Given the description of an element on the screen output the (x, y) to click on. 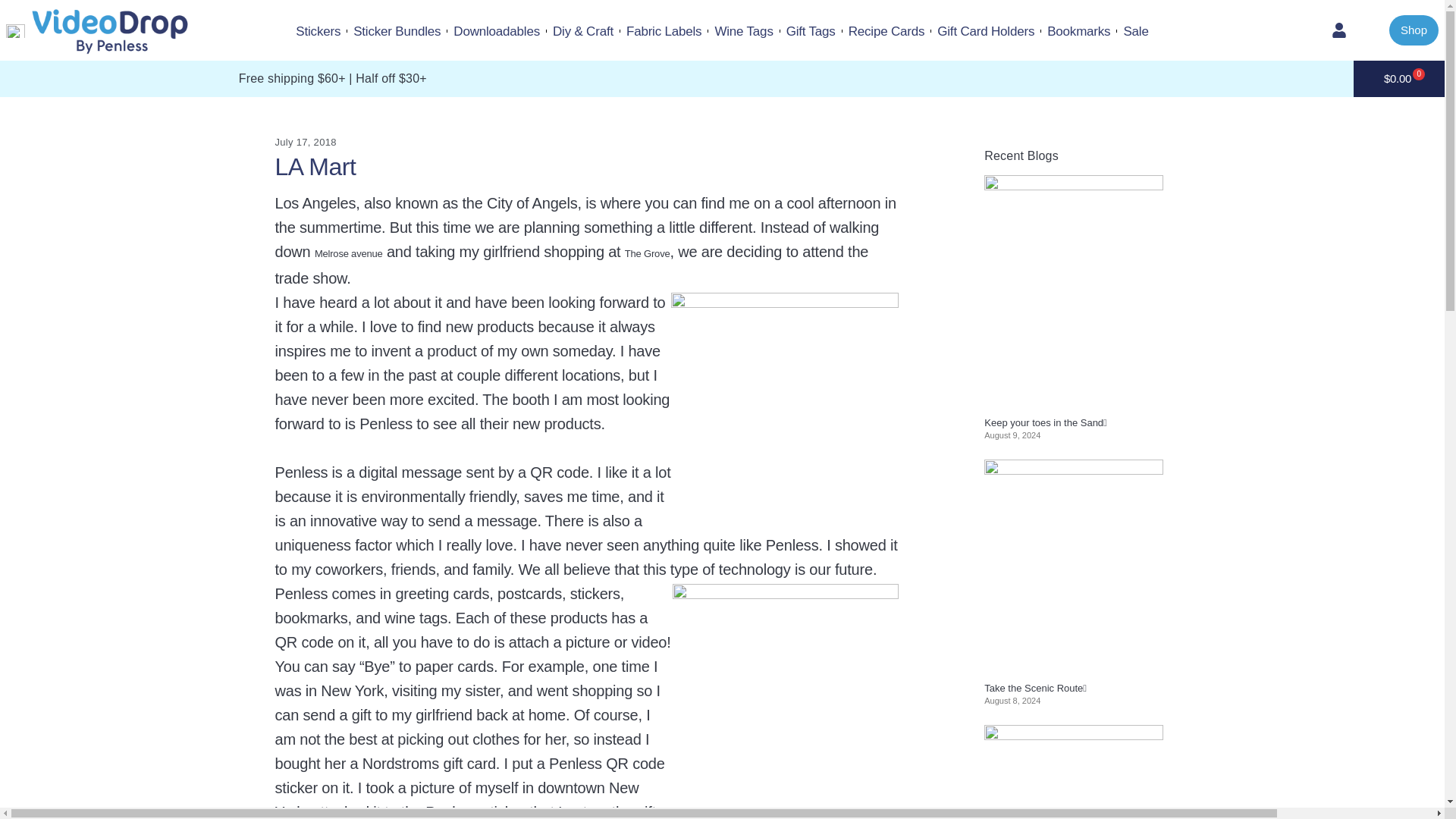
Sale (1135, 31)
Wine Tags (743, 31)
July 17, 2018 (305, 142)
Fabric Labels (663, 31)
Gift Card Holders (985, 31)
Bookmarks (1077, 31)
Stickers (317, 31)
Sticker Bundles (397, 31)
Recipe Cards (886, 31)
Gift Tags (810, 31)
